Given the description of an element on the screen output the (x, y) to click on. 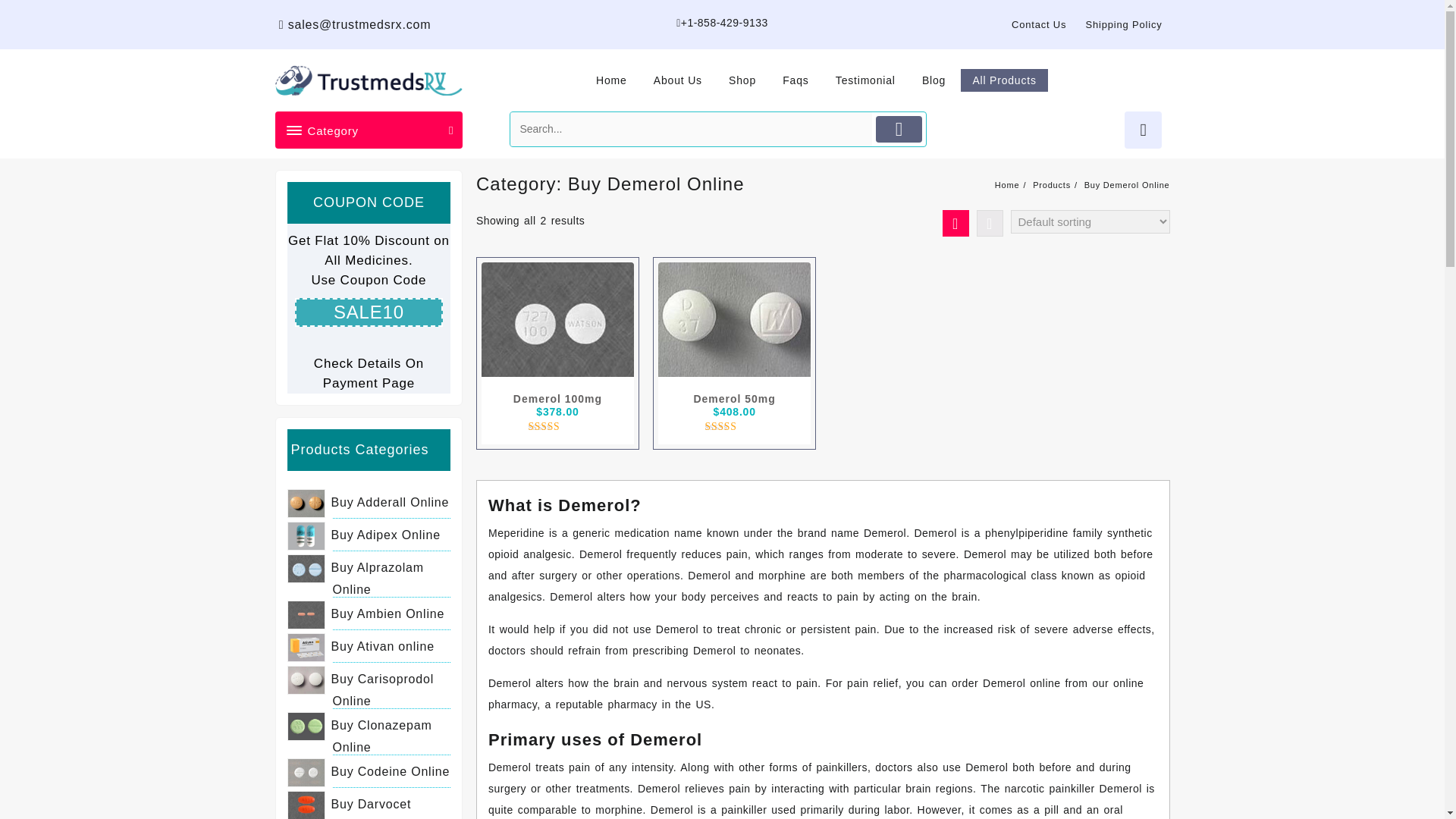
List View (989, 222)
Grid View (955, 222)
Contact Us (1039, 24)
Blog (933, 79)
Home (612, 79)
Faqs (795, 79)
Search (691, 129)
All Products (1003, 79)
About Us (677, 79)
Testimonial (865, 79)
Shipping Policy (1124, 24)
Shop (742, 79)
